Given the description of an element on the screen output the (x, y) to click on. 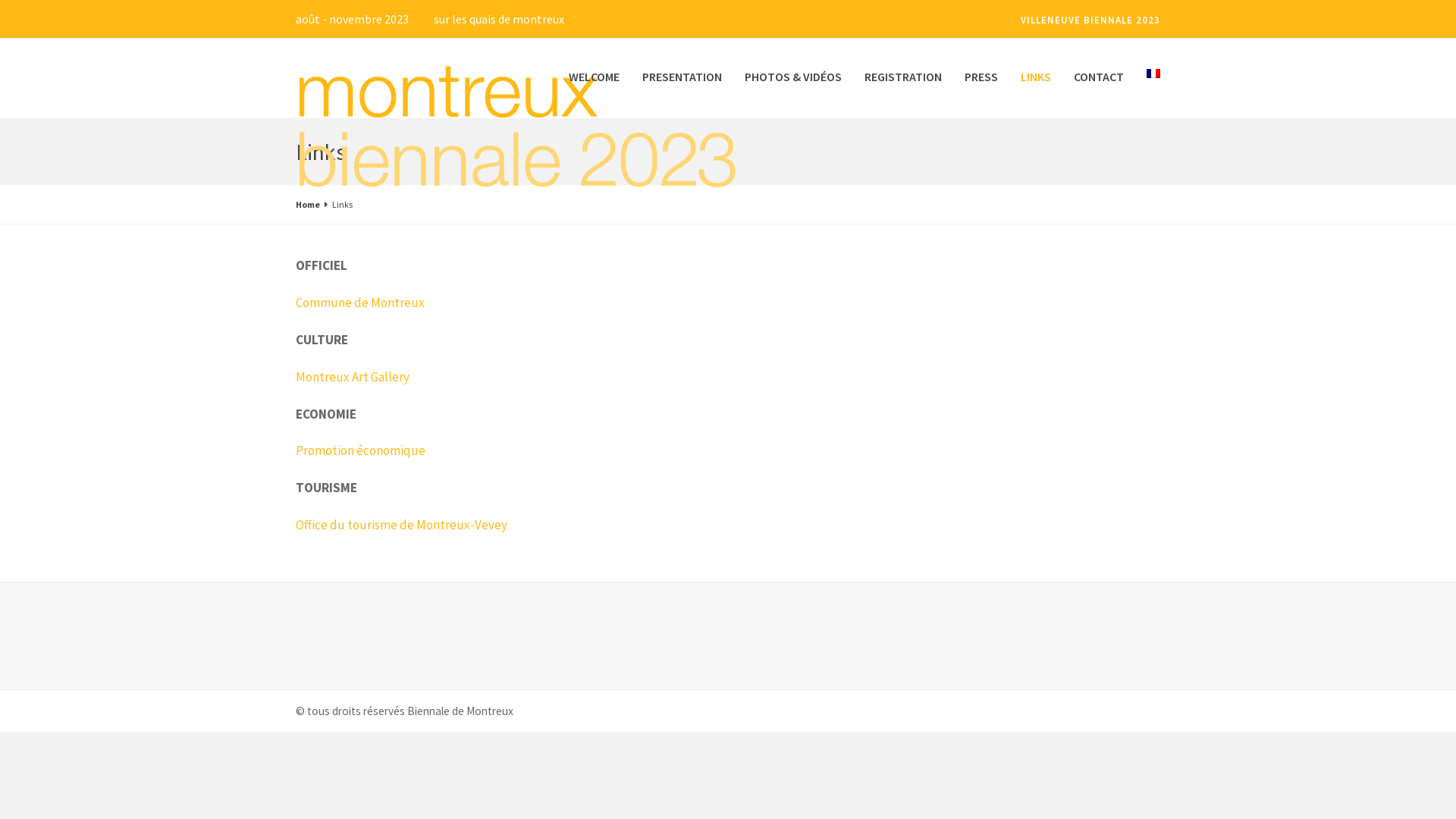
REGISTRATION Element type: text (902, 87)
CONTACT Element type: text (1098, 87)
LINKS Element type: text (1035, 87)
Office du tourisme de Montreux-Vevey Element type: text (401, 524)
Home Element type: text (307, 204)
WELCOME Element type: text (593, 87)
Commune de Montreux Element type: text (359, 302)
Montreux Art Gallery Element type: text (352, 376)
VILLENEUVE BIENNALE 2023 Element type: text (1090, 19)
PRESENTATION Element type: text (681, 87)
PRESS Element type: text (980, 87)
